Given the description of an element on the screen output the (x, y) to click on. 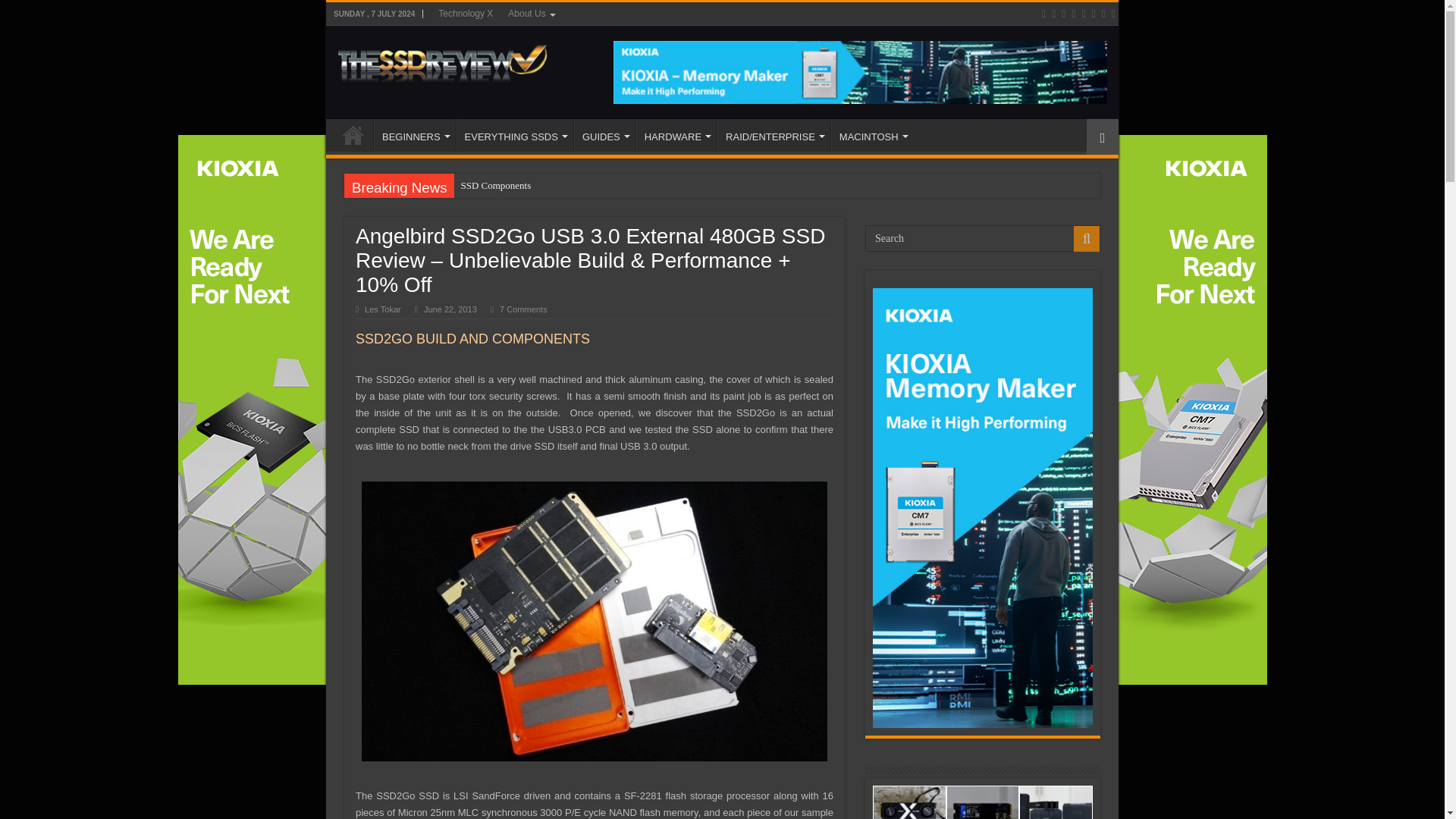
Twitter (1063, 13)
Search (982, 238)
Reddit (1083, 13)
Facebook (1053, 13)
Rss (1043, 13)
LinkedIn (1073, 13)
Delicious (1093, 13)
StumbleUpon (1103, 13)
